Given the description of an element on the screen output the (x, y) to click on. 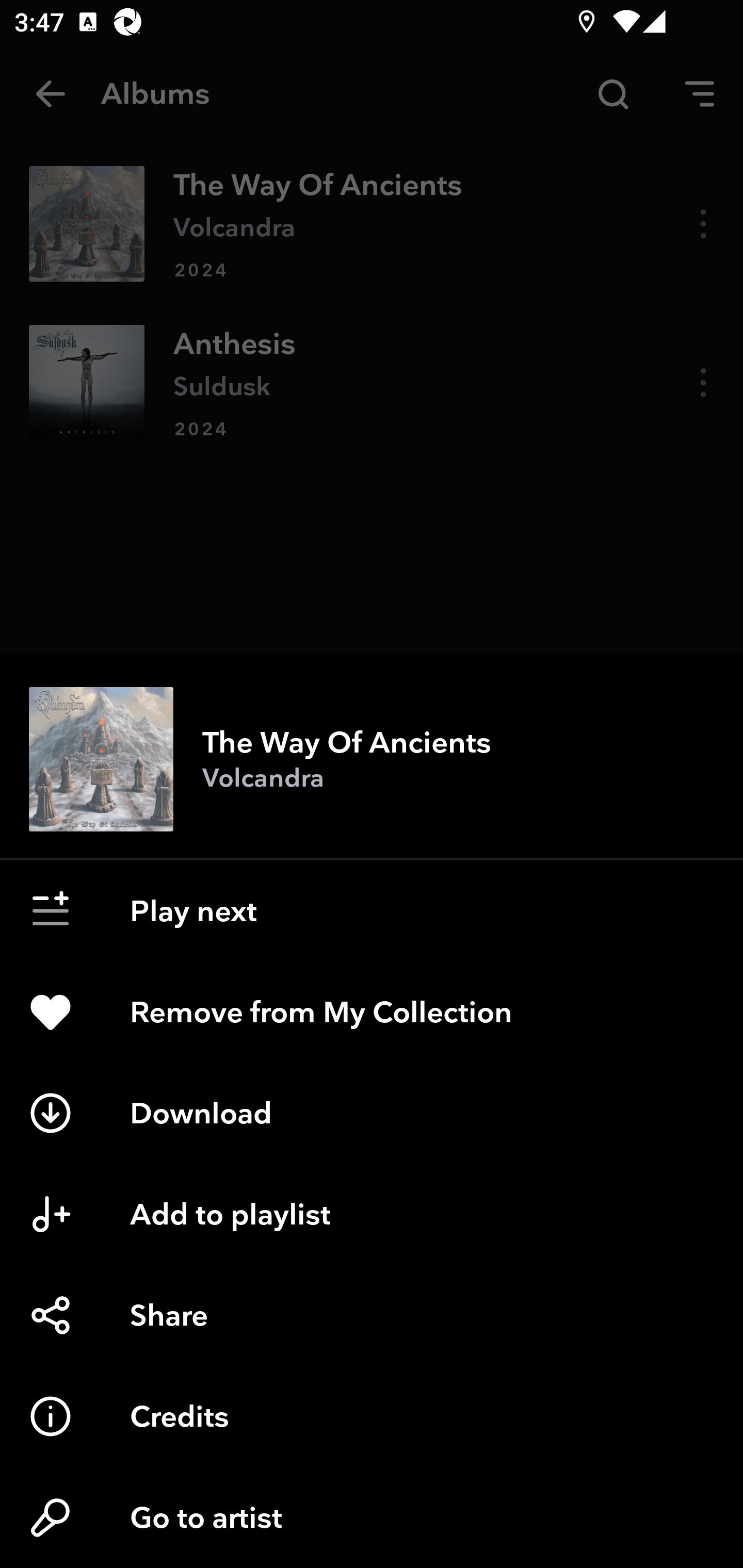
Play next (371, 910)
Remove from My Collection (371, 1012)
Download (371, 1113)
Add to playlist (371, 1214)
Share (371, 1315)
Credits (371, 1416)
Go to artist (371, 1517)
